Given the description of an element on the screen output the (x, y) to click on. 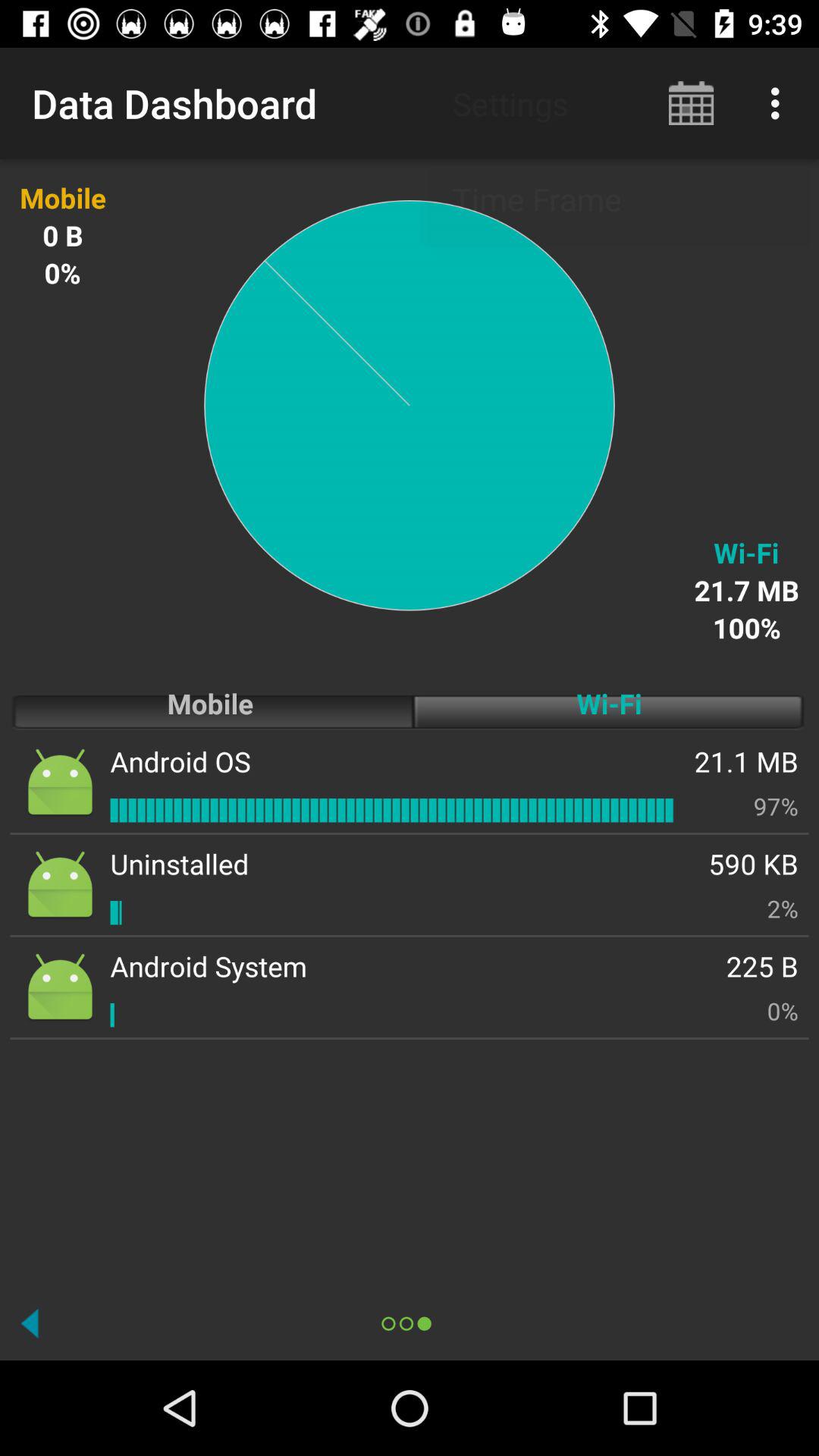
press the app to the left of wi-fi app (180, 761)
